Given the description of an element on the screen output the (x, y) to click on. 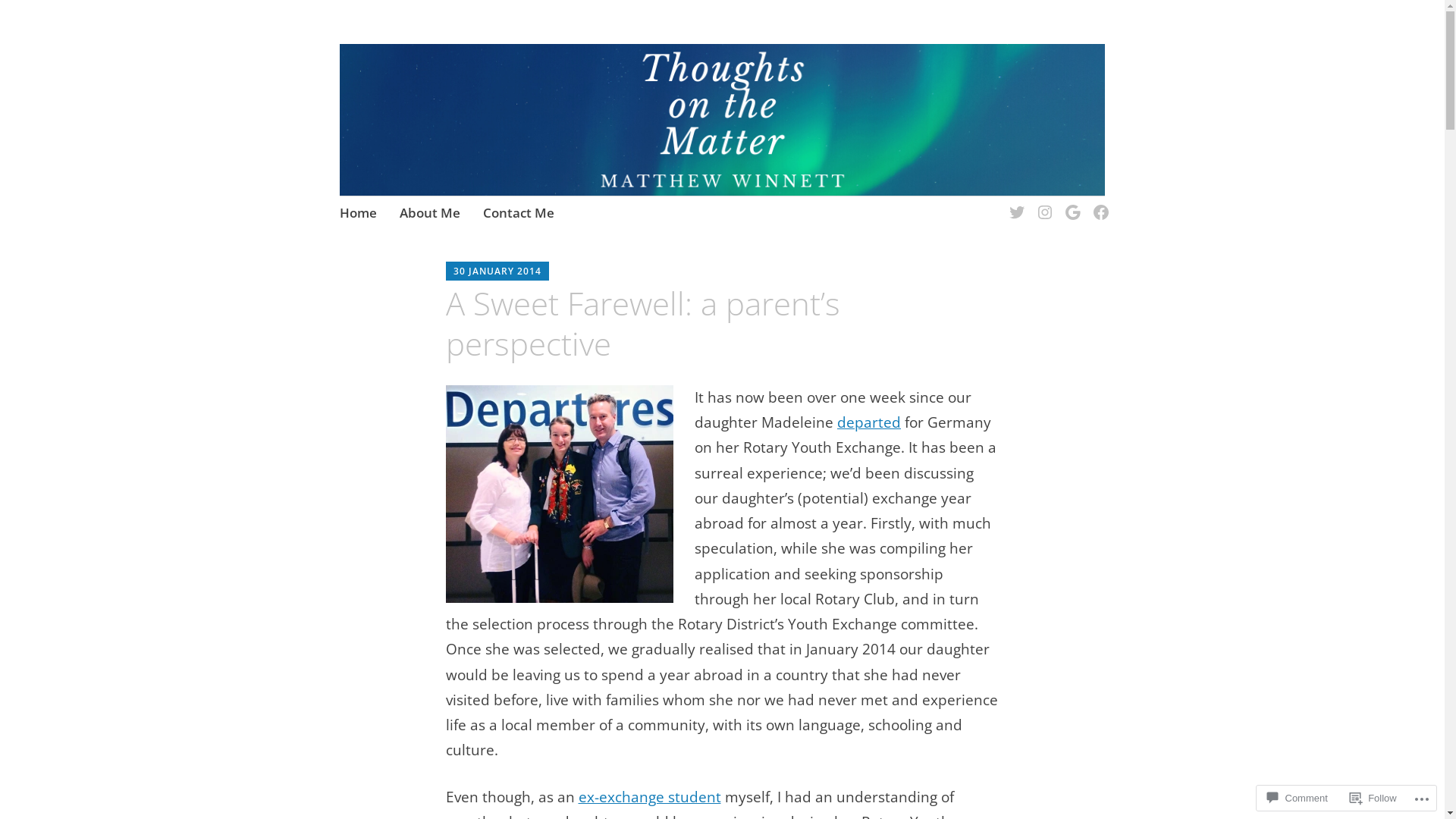
Thoughts on the Matter Element type: text (526, 100)
Contact Me Element type: text (518, 214)
About Me Element type: text (429, 214)
30 JANUARY 2014 Element type: text (497, 270)
Comment Element type: text (1296, 797)
MATTHEW WINNETT Element type: text (584, 272)
departed Element type: text (868, 422)
ex-exchange student Element type: text (648, 796)
Home Element type: text (357, 214)
Follow Element type: text (1372, 797)
